Given the description of an element on the screen output the (x, y) to click on. 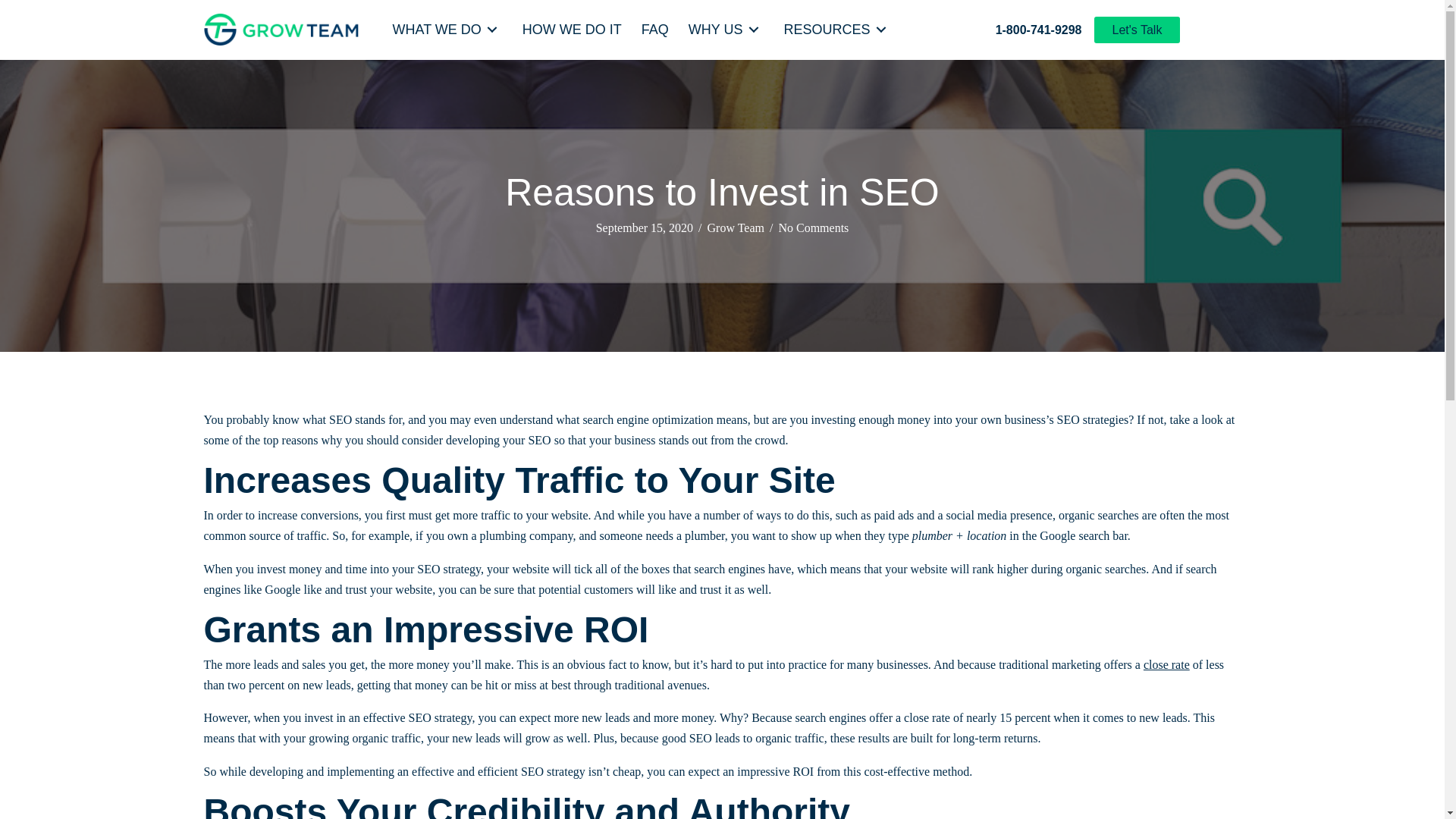
Grow Team (735, 227)
Let's Talk (1136, 29)
WHAT WE DO (447, 29)
RESOURCES (837, 29)
No Comments (812, 227)
1-800-741-9298 (1038, 29)
HOW WE DO IT (571, 29)
FAQ (655, 29)
WHY US (726, 29)
